Given the description of an element on the screen output the (x, y) to click on. 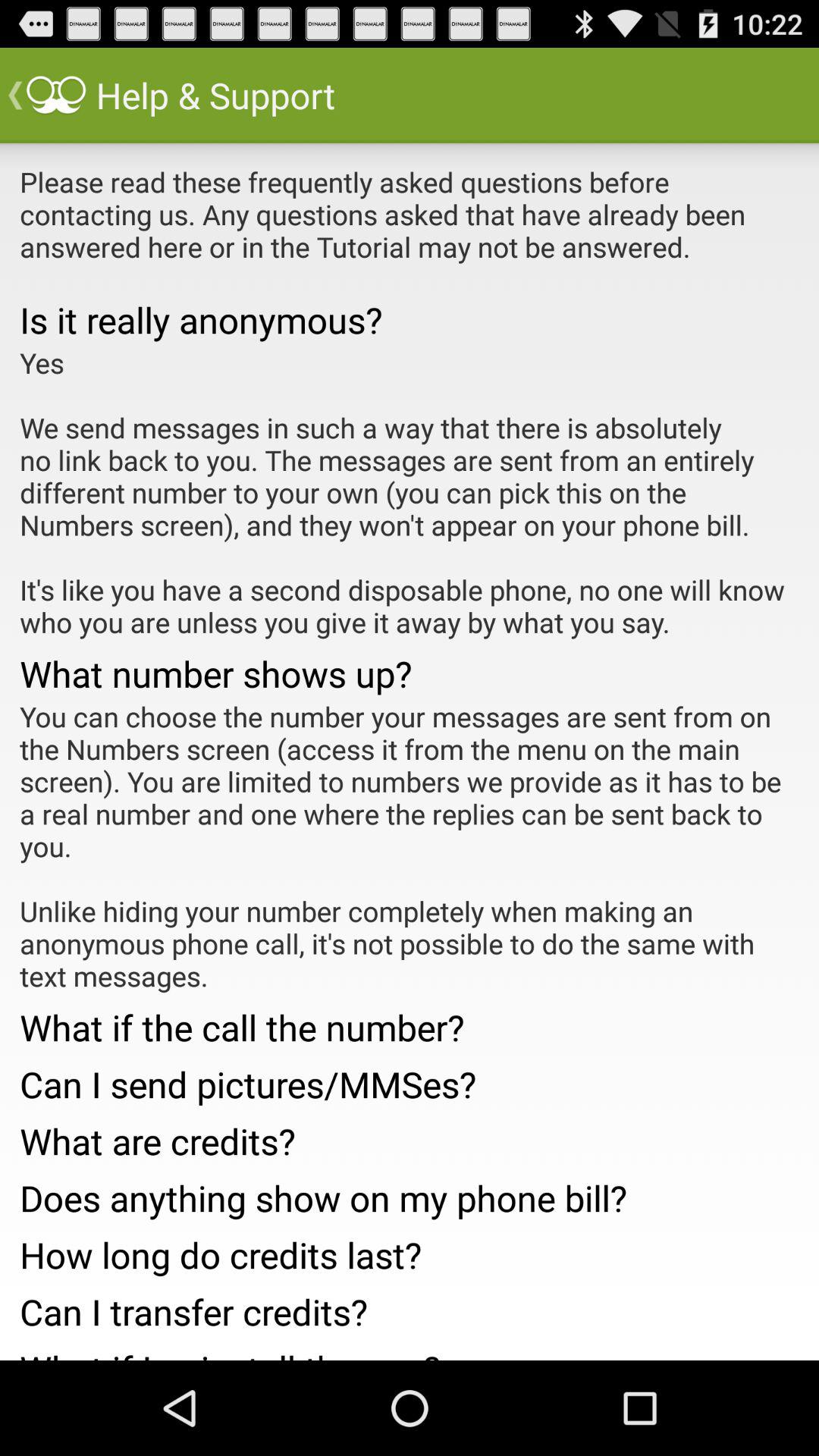
select the item above the does anything show icon (409, 1136)
